Given the description of an element on the screen output the (x, y) to click on. 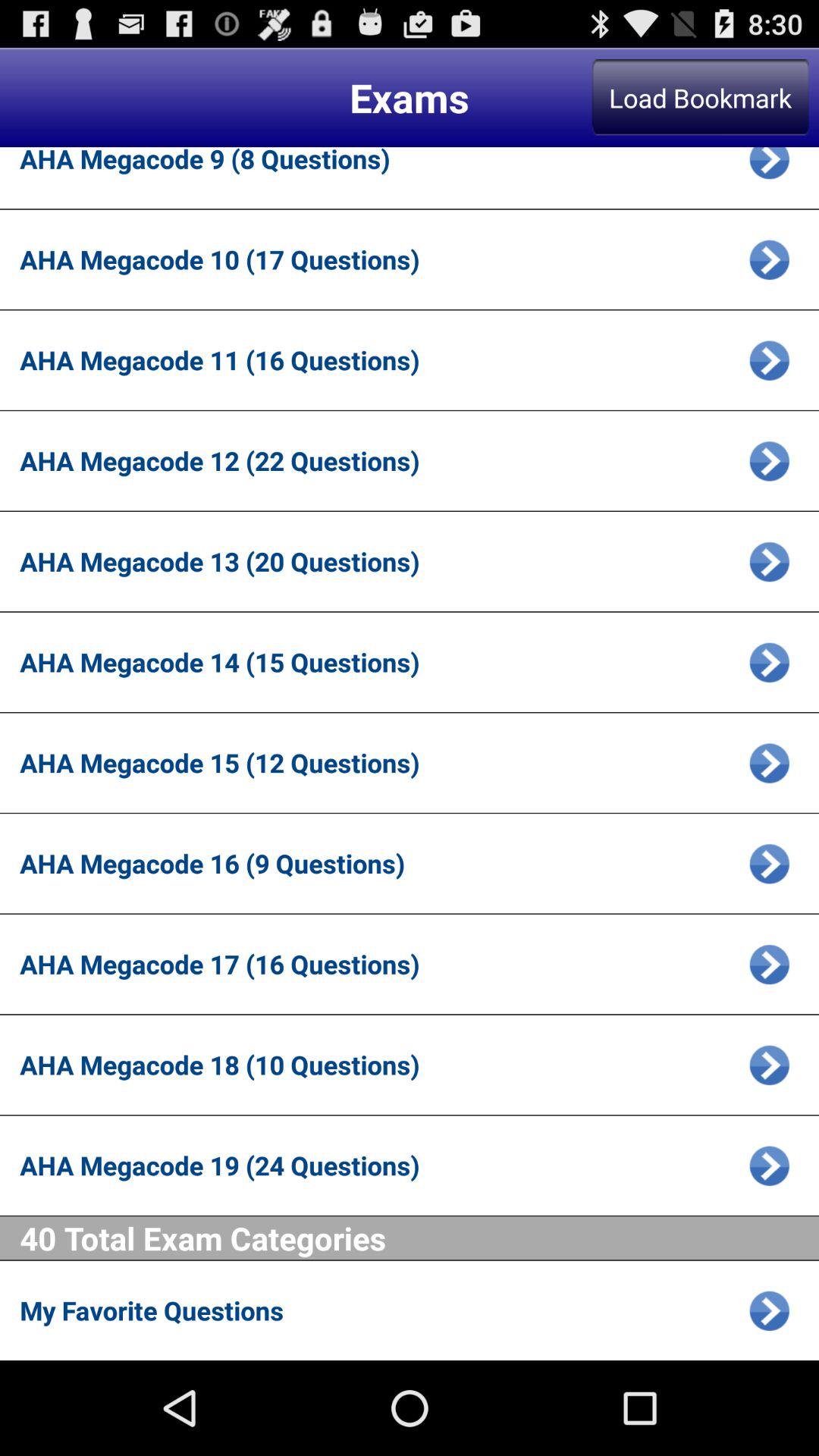
press the load bookmark (700, 97)
